Given the description of an element on the screen output the (x, y) to click on. 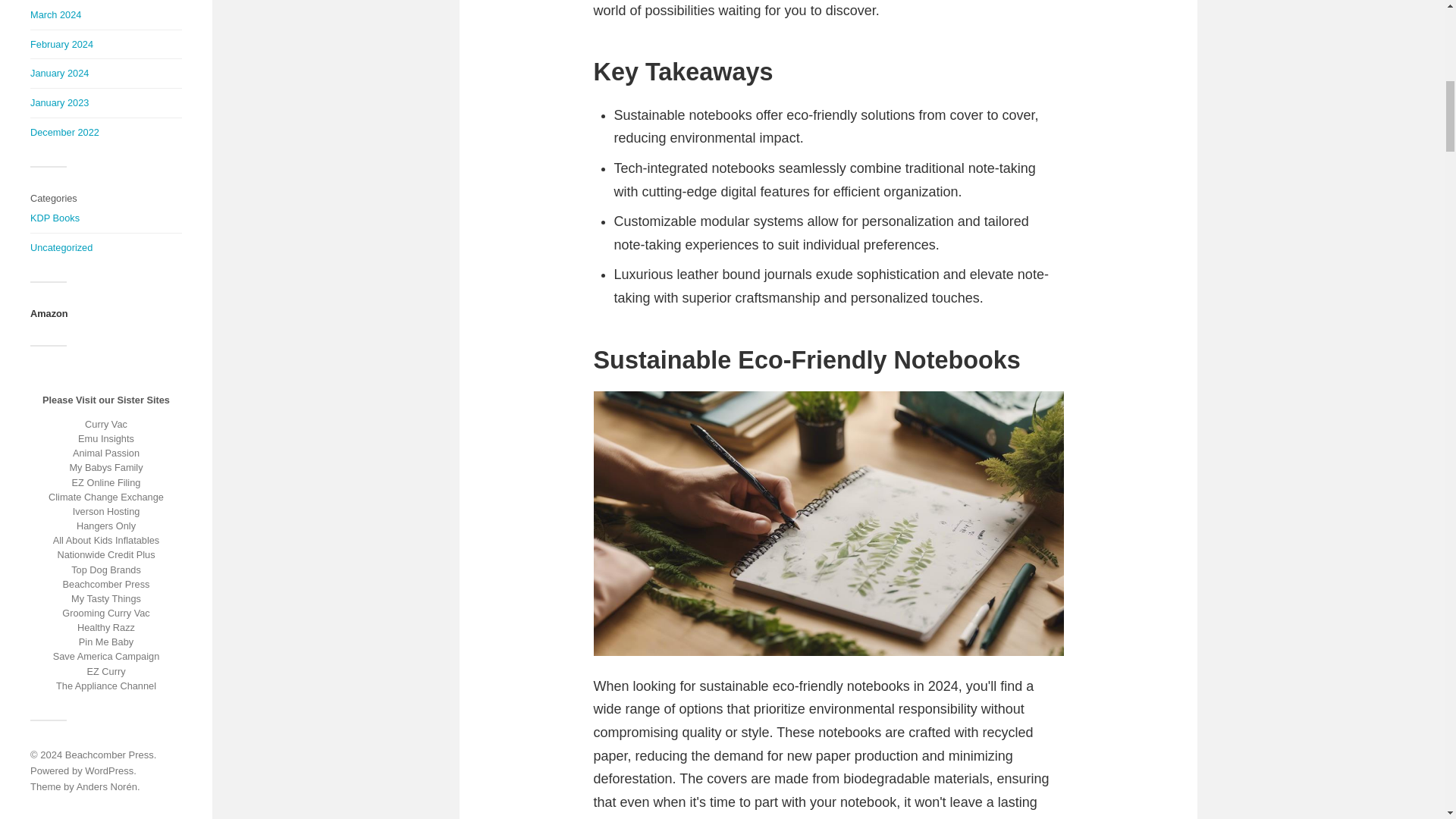
Top Dog Brands (106, 569)
January 2024 (59, 72)
Iverson Hosting (105, 511)
January 2023 (59, 102)
Emu Insights (105, 438)
All About Kids Inflatables (106, 540)
My Tasty Things (106, 598)
March 2024 (55, 14)
Animal Passion (105, 452)
My Babys Family (105, 467)
